Given the description of an element on the screen output the (x, y) to click on. 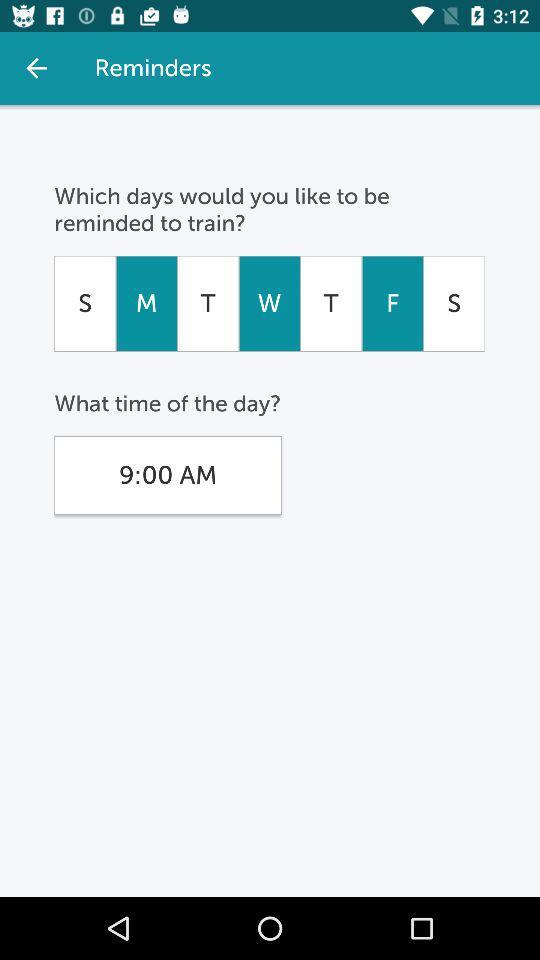
open the item to the right of the t item (269, 303)
